Given the description of an element on the screen output the (x, y) to click on. 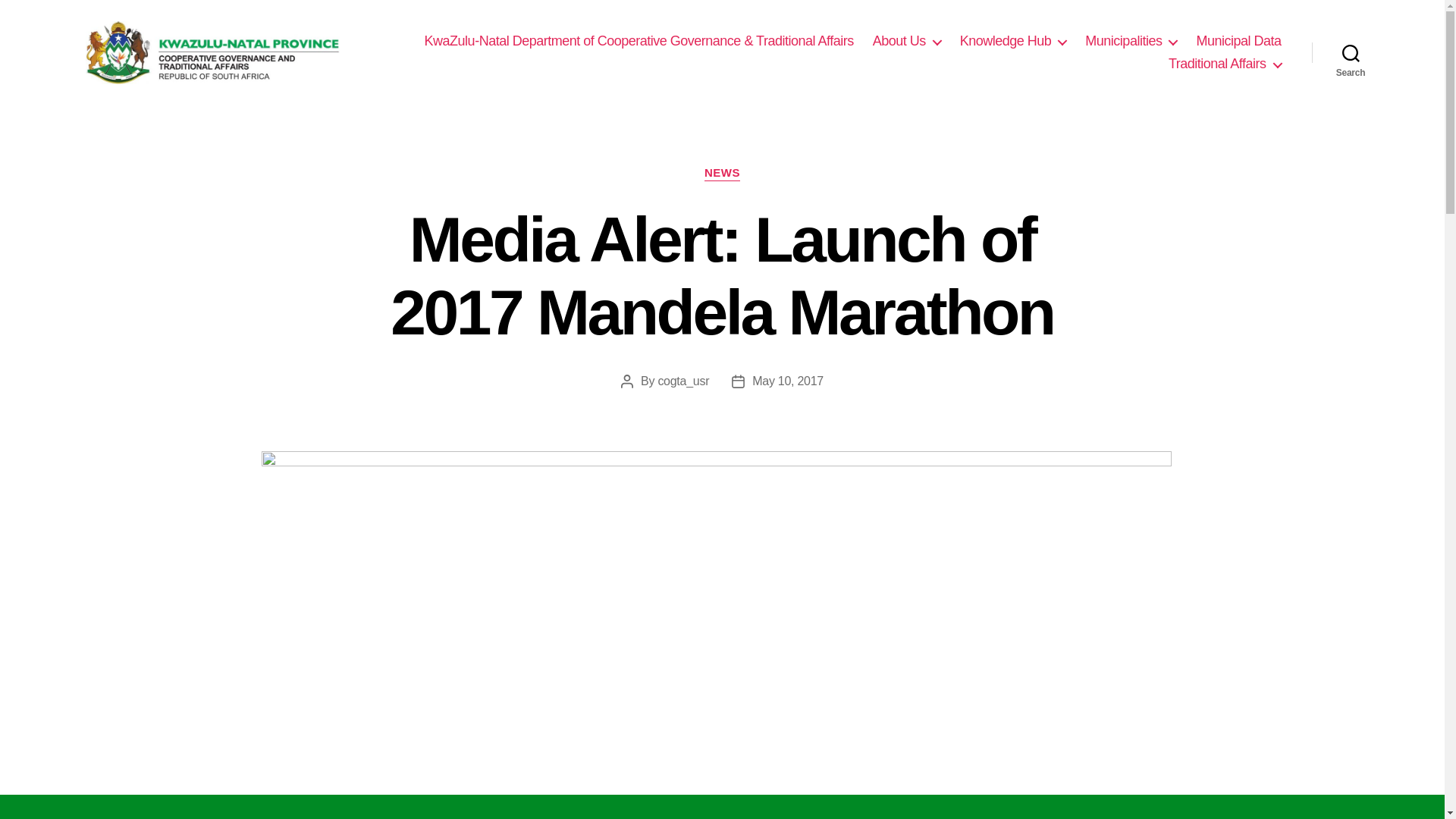
Municipalities (1130, 41)
About Us (906, 41)
Knowledge Hub (1013, 41)
